Given the description of an element on the screen output the (x, y) to click on. 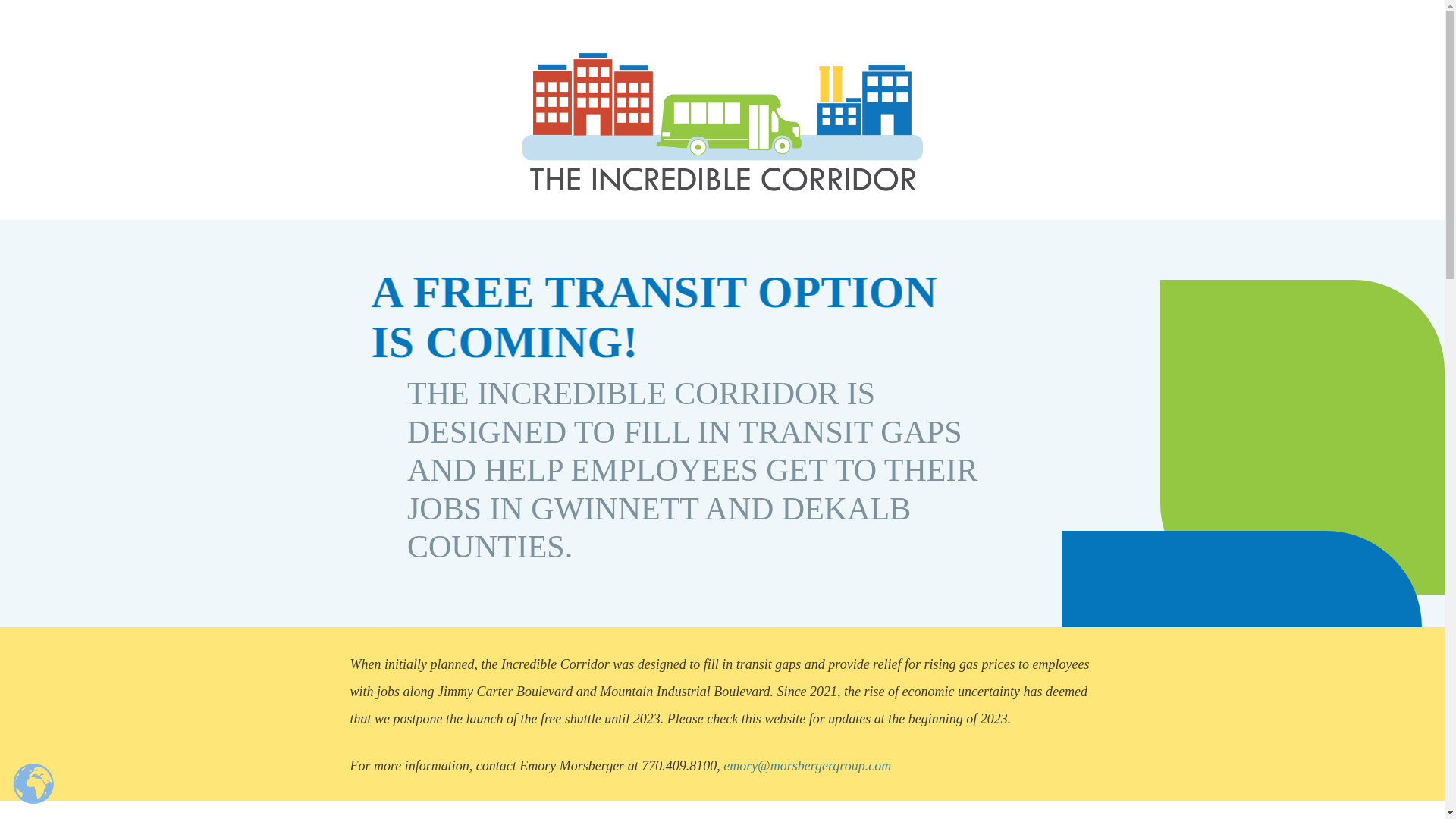
A FREE TRANSIT OPTION IS COMING!  (668, 316)
